Given the description of an element on the screen output the (x, y) to click on. 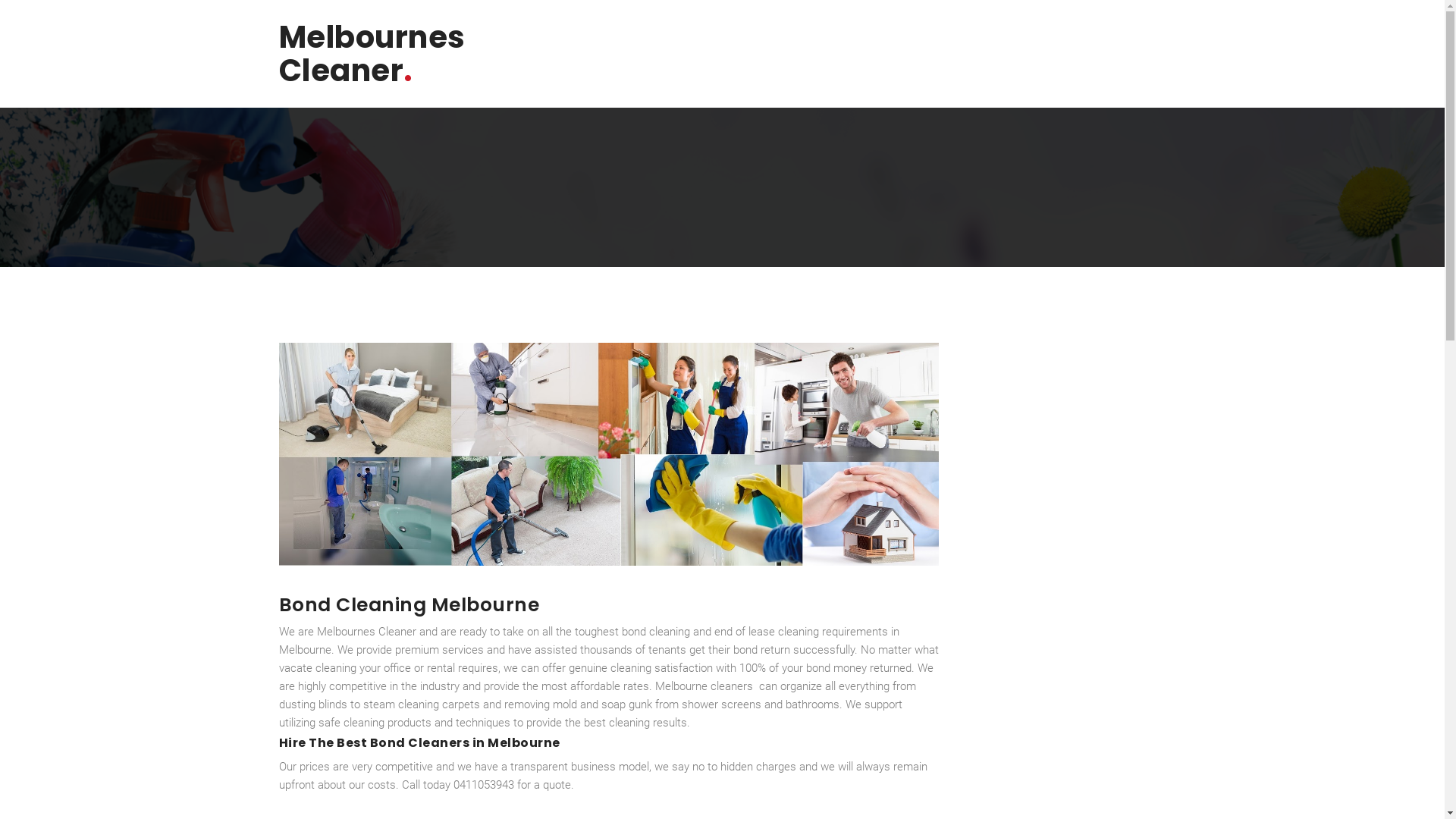
Melbournes Cleaner. Element type: text (372, 53)
